Given the description of an element on the screen output the (x, y) to click on. 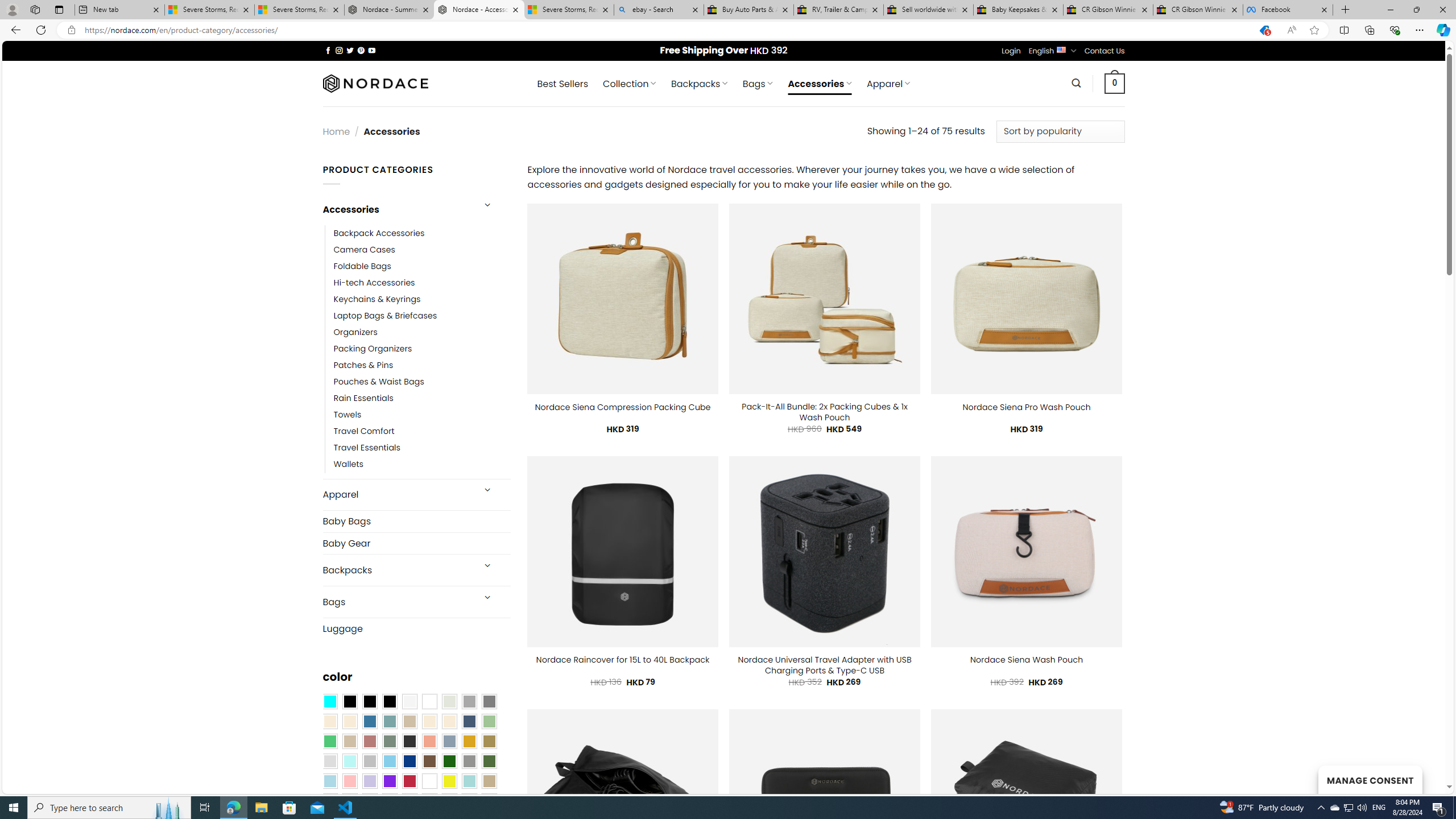
Keychains & Keyrings (422, 298)
Pouches & Waist Bags (378, 381)
Light Green (488, 721)
Nordace Siena Pro Wash Pouch (1026, 406)
Ash Gray (449, 701)
Nordace Siena Wash Pouch (1026, 659)
Navy Blue (408, 761)
Blue (369, 721)
Light Taupe (349, 741)
